Given the description of an element on the screen output the (x, y) to click on. 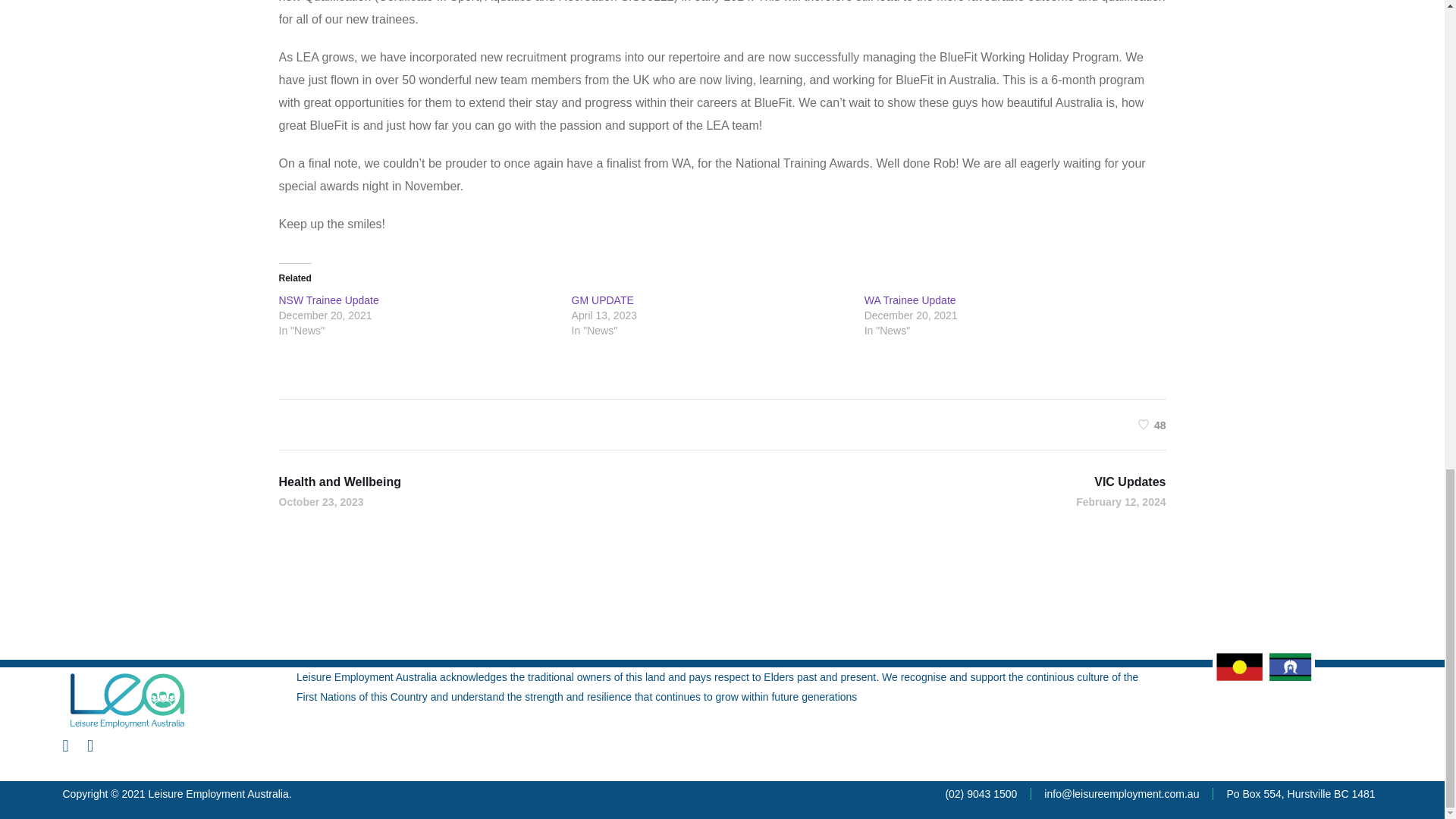
GM UPDATE (602, 300)
NSW Trainee Update (328, 300)
Like (322, 499)
WA Trainee Update (1152, 423)
GM UPDATE (1137, 499)
NSW Trainee Update (910, 300)
WA Trainee Update (602, 300)
